Given the description of an element on the screen output the (x, y) to click on. 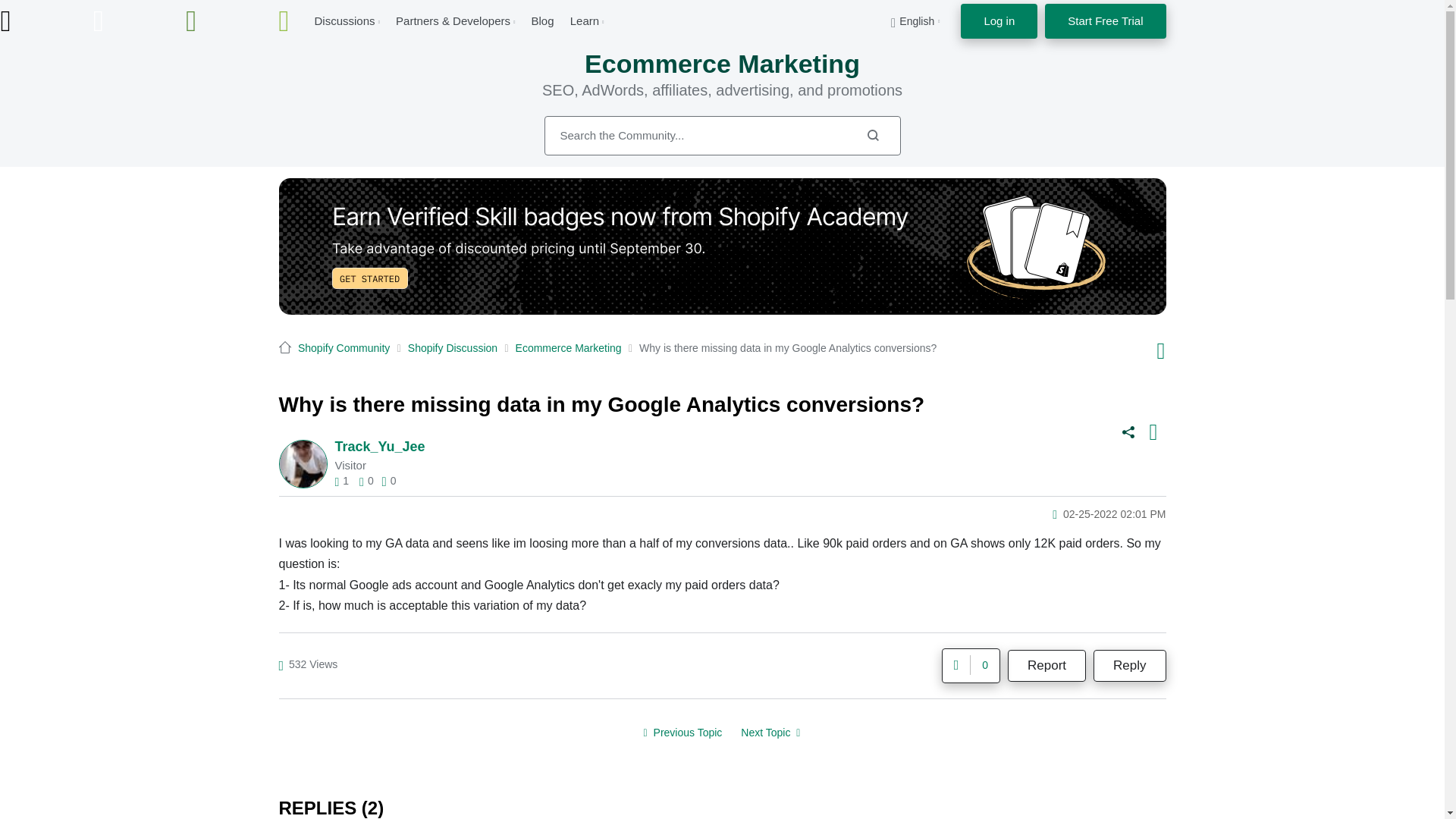
Search (722, 135)
Search (872, 135)
Search (872, 135)
Discussions (344, 20)
